Given the description of an element on the screen output the (x, y) to click on. 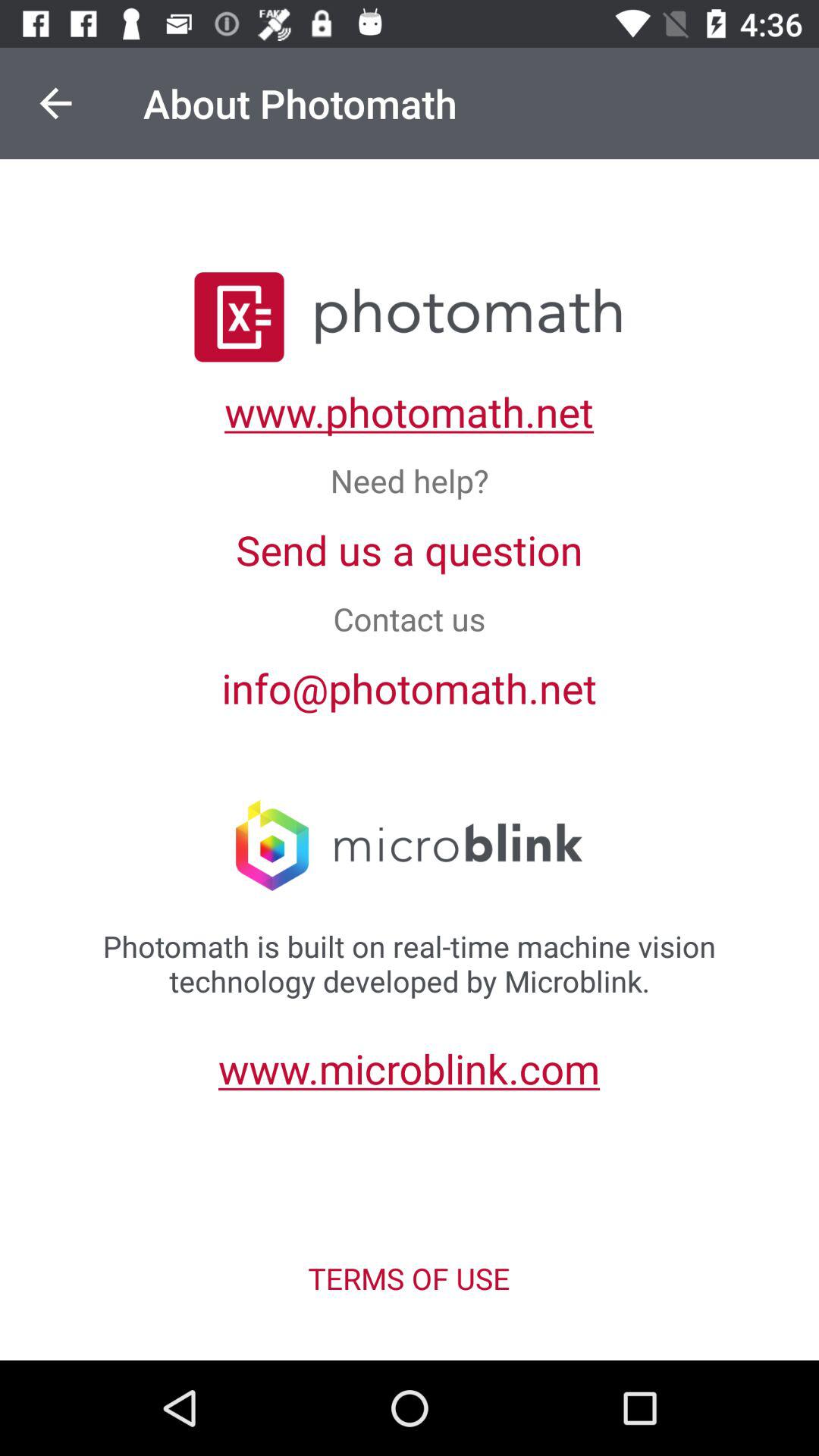
swipe until terms of use item (409, 1278)
